Given the description of an element on the screen output the (x, y) to click on. 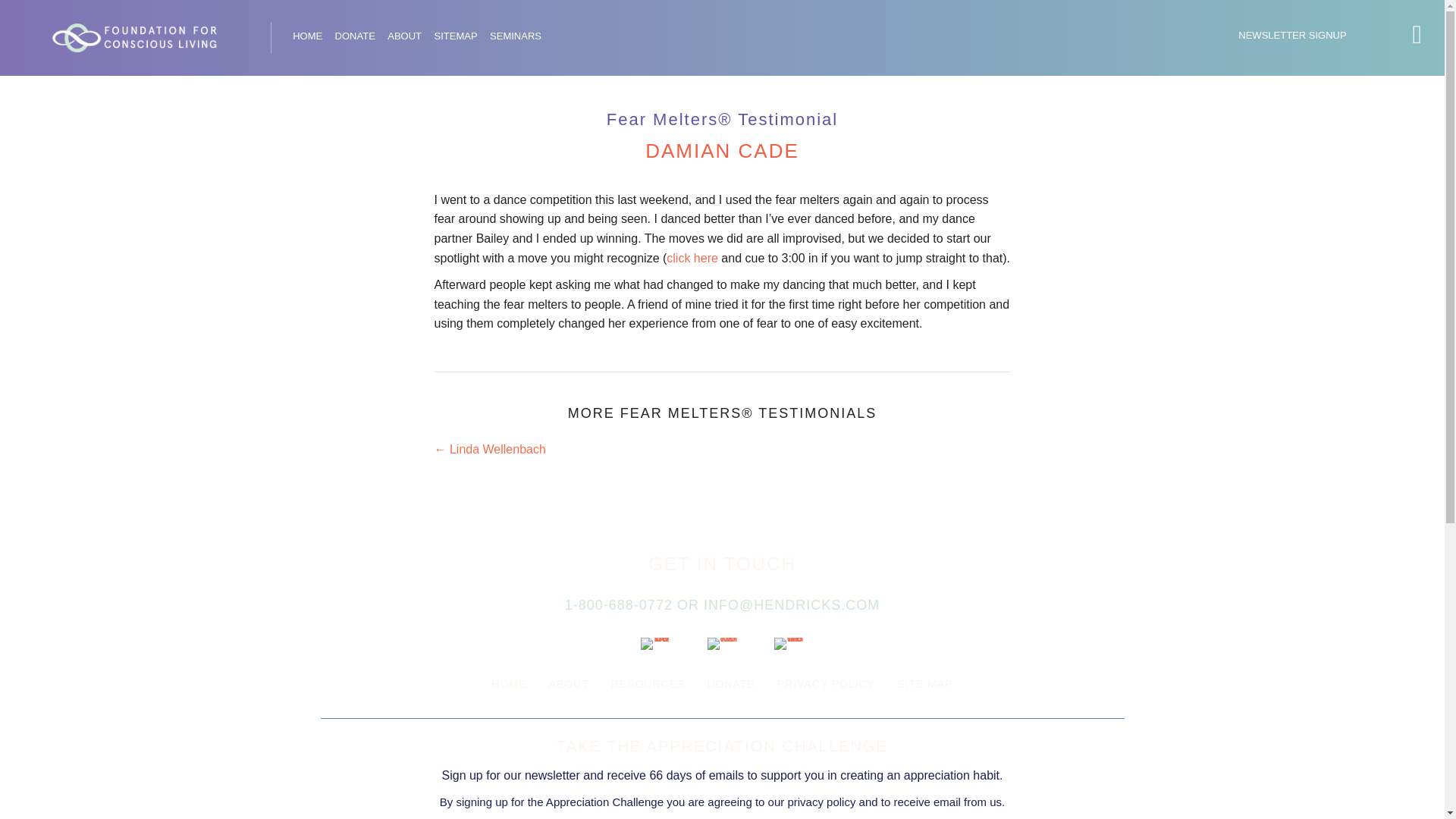
Search (29, 15)
DONATE (355, 36)
click here (691, 257)
RESOURCES (647, 683)
Facebook icon (654, 644)
SITEMAP (455, 36)
SITE MAP (924, 683)
Donate to the Foundation for Conscious Living (355, 36)
PRIVACY POLICY (826, 683)
NEWSLETTER SIGNUP (1292, 34)
Foundation for Conscious Living home page (307, 36)
DONATE (730, 683)
Discover seminars (515, 36)
HOME (307, 36)
privacy policy (821, 800)
